Given the description of an element on the screen output the (x, y) to click on. 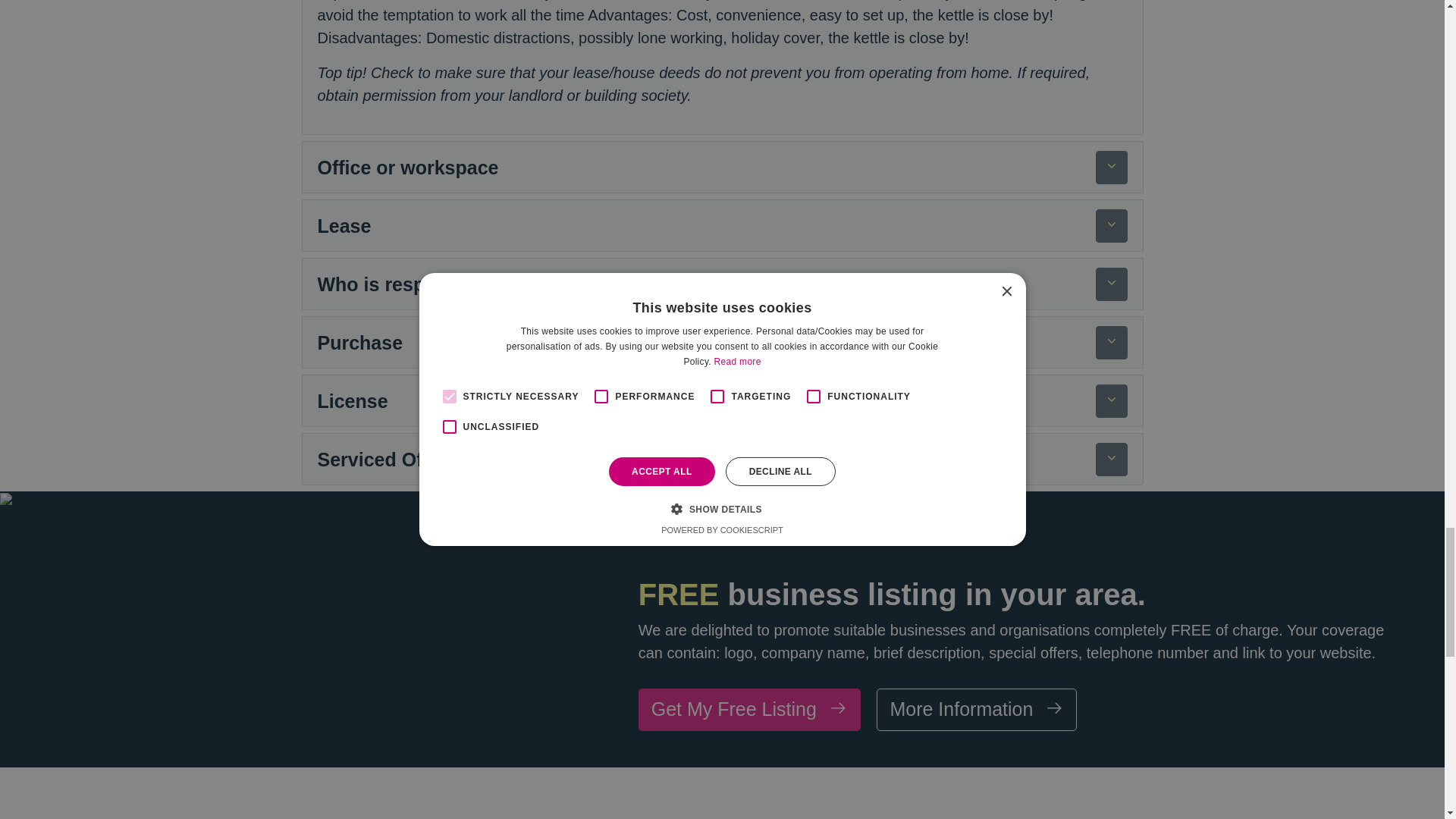
Get My Free Listing (749, 709)
